Given the description of an element on the screen output the (x, y) to click on. 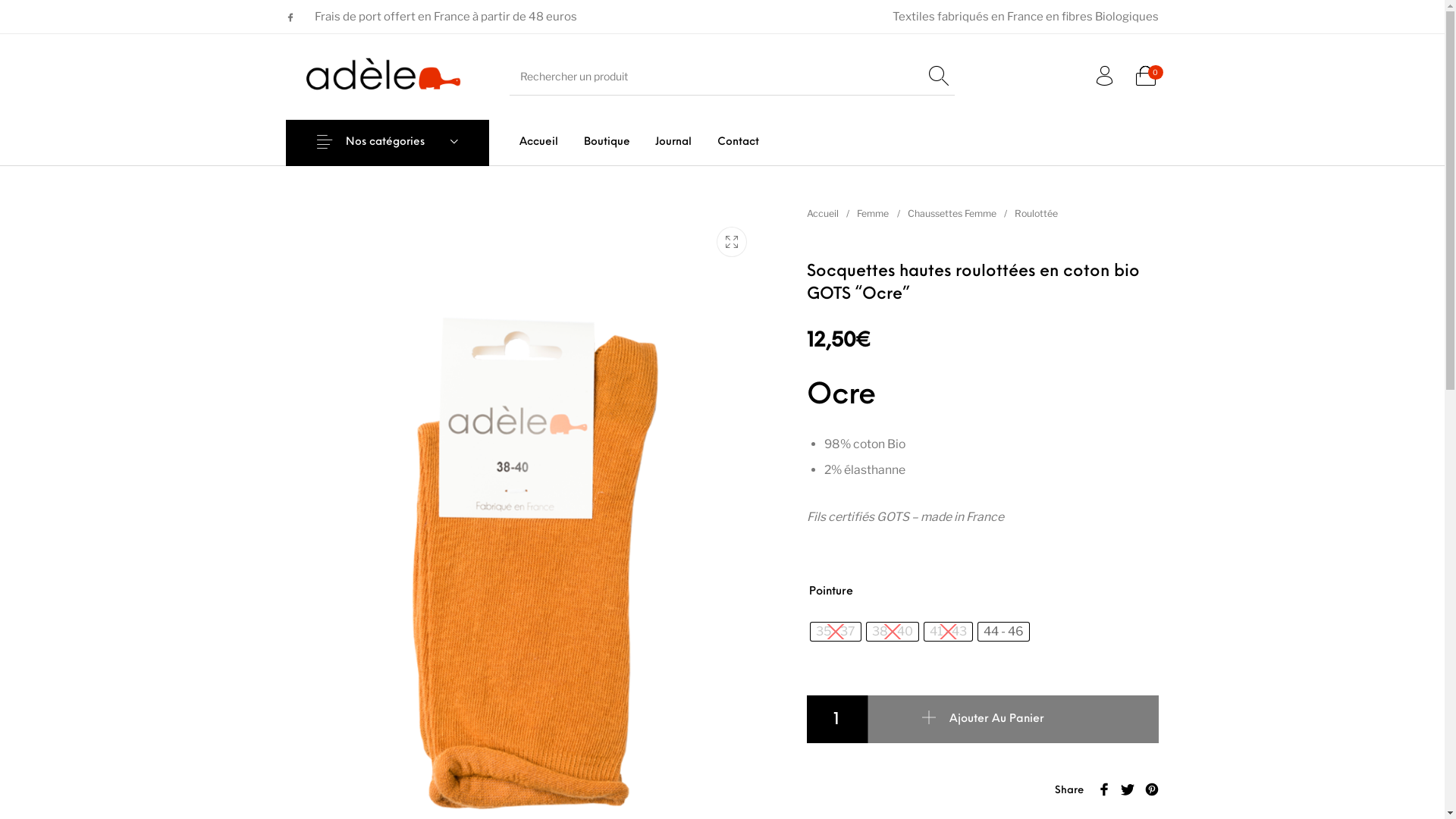
Accueil Element type: text (538, 142)
Boutique Element type: text (607, 142)
0 Element type: text (1145, 76)
Contact Element type: text (737, 142)
Accueil Element type: text (822, 213)
Femme Element type: text (872, 213)
Ajouter Au Panier Element type: text (1013, 719)
Chaussettes Femme Element type: text (951, 213)
Journal Element type: text (673, 142)
